Given the description of an element on the screen output the (x, y) to click on. 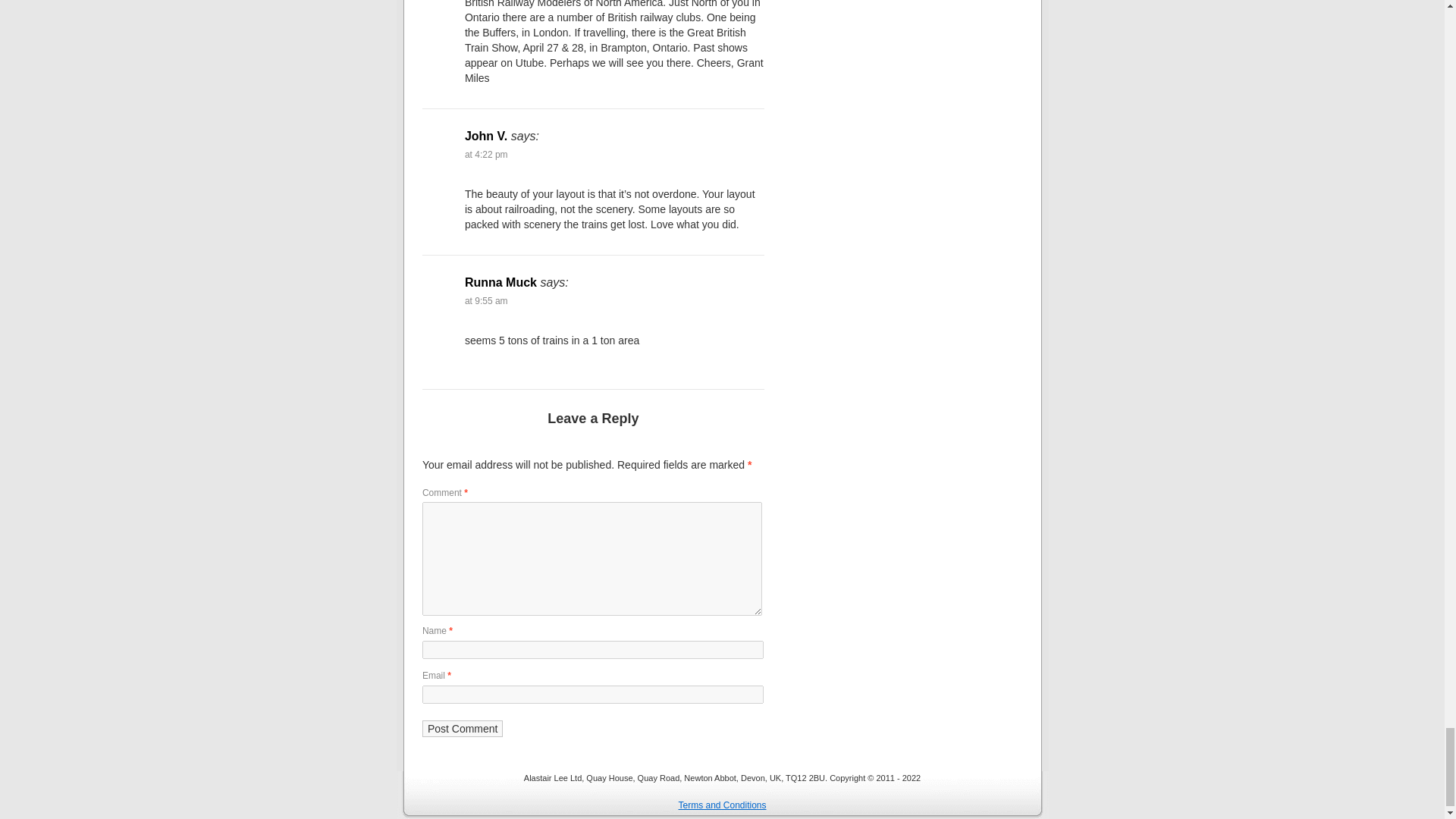
Post Comment (462, 728)
